Given the description of an element on the screen output the (x, y) to click on. 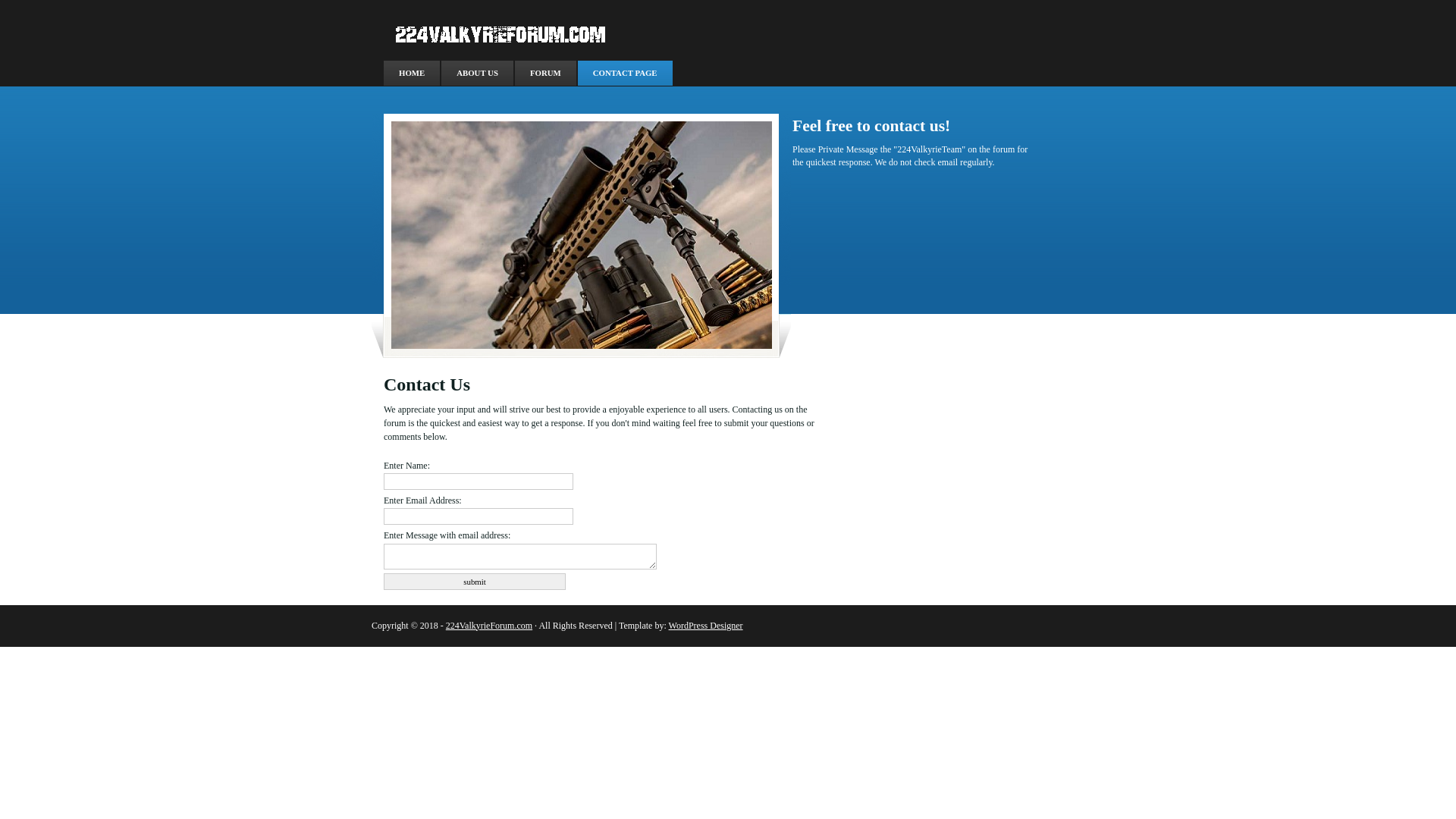
submit Element type: text (474, 581)
HOME Element type: text (411, 72)
224ValkyrieForum.com Element type: text (488, 625)
224 Valkyrie Forum Element type: text (500, 32)
ABOUT US Element type: text (477, 72)
WordPress Designer Element type: text (705, 625)
CONTACT PAGE Element type: text (624, 72)
FORUM Element type: text (545, 72)
